Given the description of an element on the screen output the (x, y) to click on. 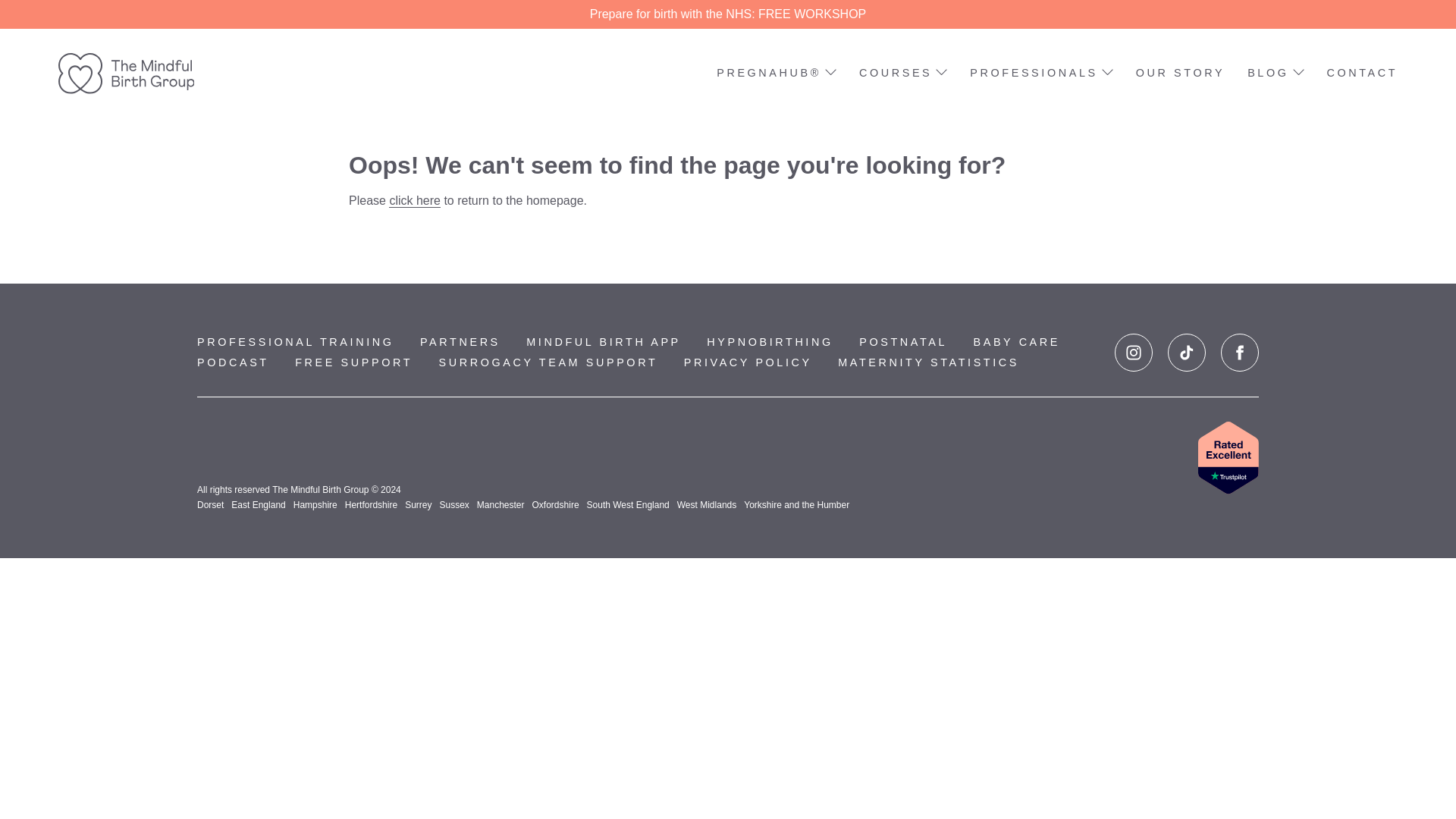
COURSES (903, 73)
BLOG (1275, 73)
CONTACT (1361, 73)
PROFESSIONALS (1040, 73)
OUR STORY (1179, 73)
Prepare for birth with the NHS: FREE WORKSHOP (727, 13)
